Given the description of an element on the screen output the (x, y) to click on. 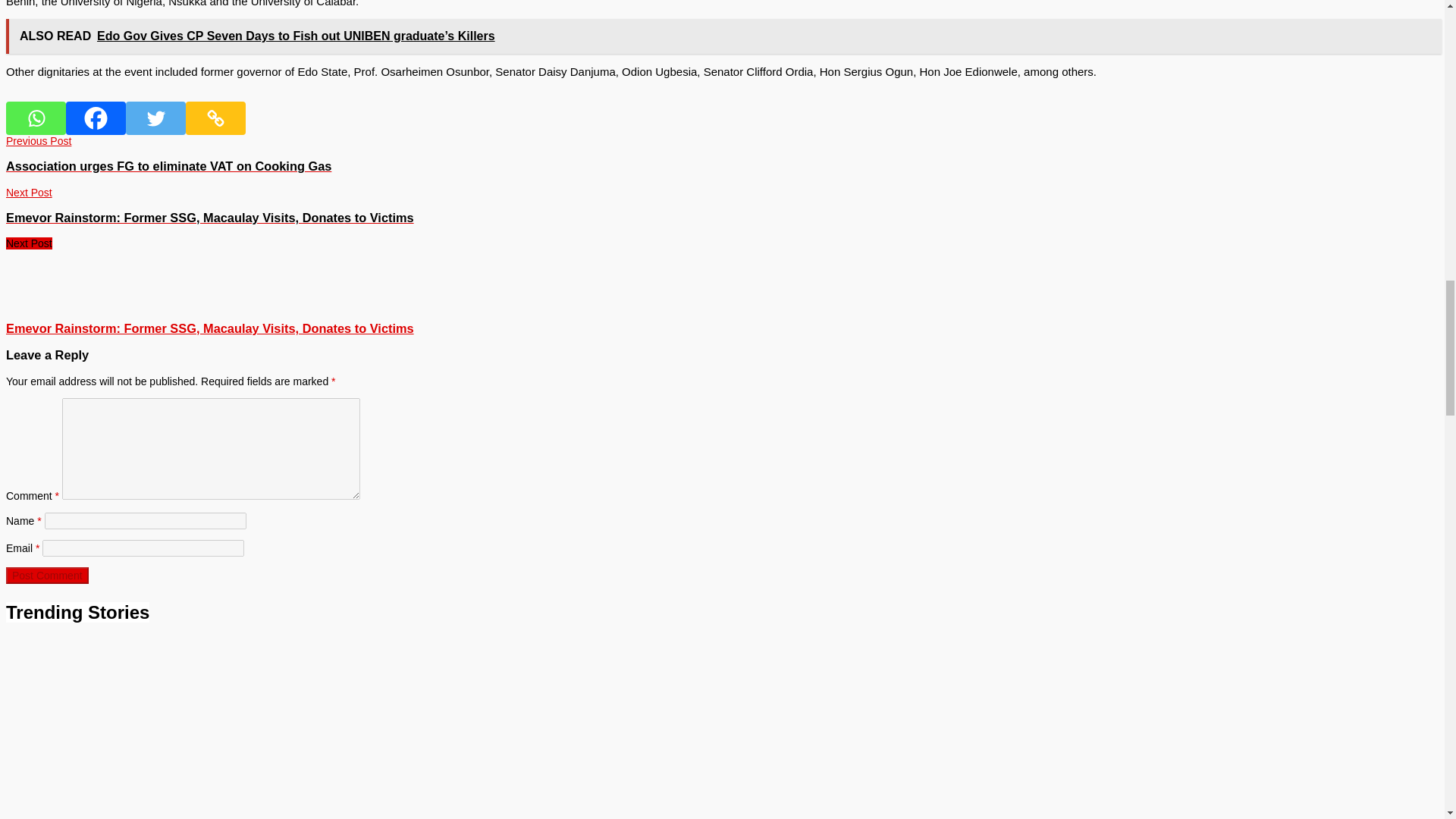
Facebook (95, 118)
Whatsapp (35, 118)
Copy Link (216, 118)
Twitter (155, 118)
Post Comment (46, 575)
